Given the description of an element on the screen output the (x, y) to click on. 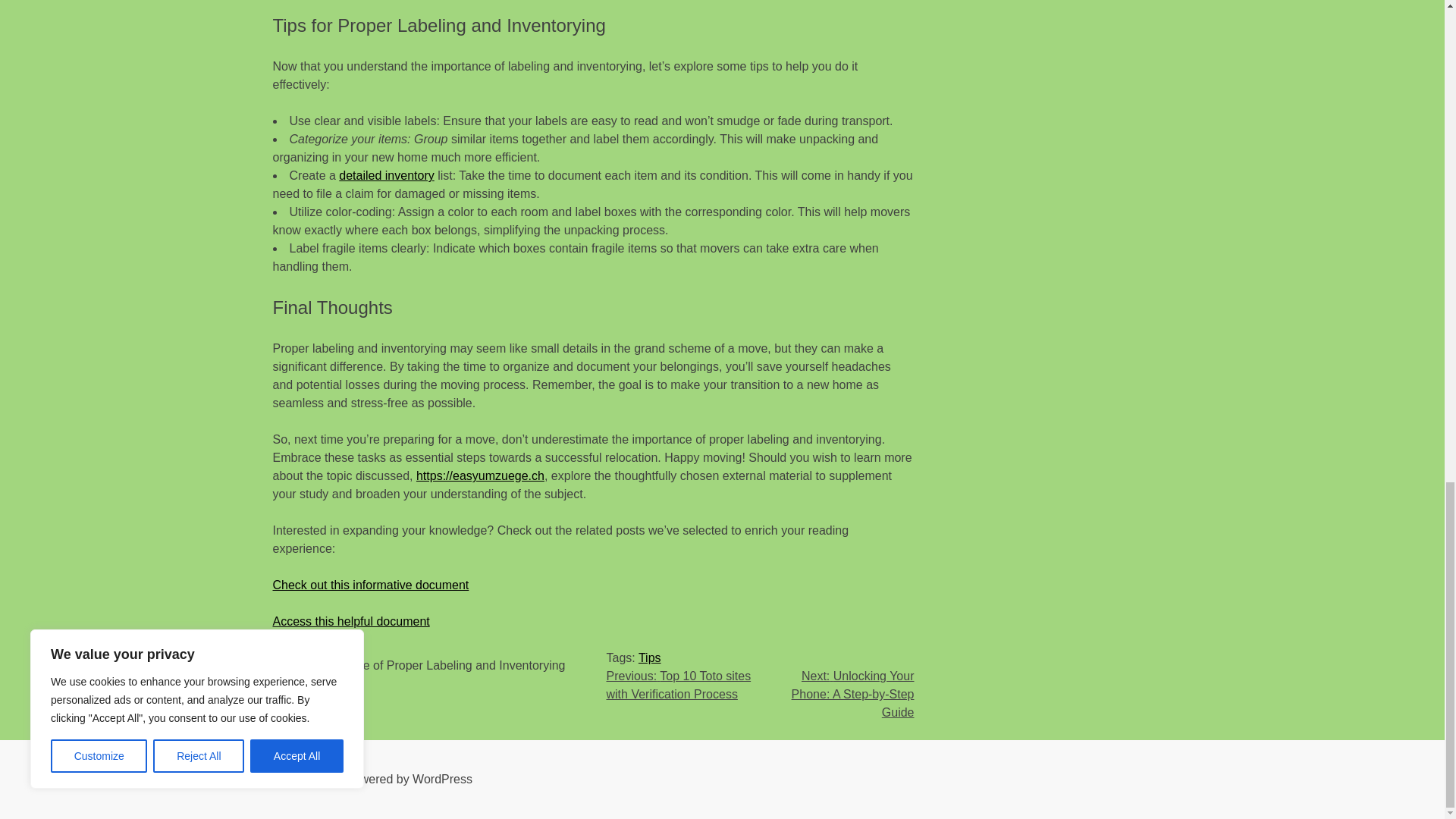
Tips (650, 657)
Check out this informative document (370, 584)
detailed inventory (386, 174)
Access this helpful document (351, 621)
Next: Unlocking Your Phone: A Step-by-Step Guide (853, 694)
Previous: Top 10 Toto sites with Verification Process (679, 685)
